Given the description of an element on the screen output the (x, y) to click on. 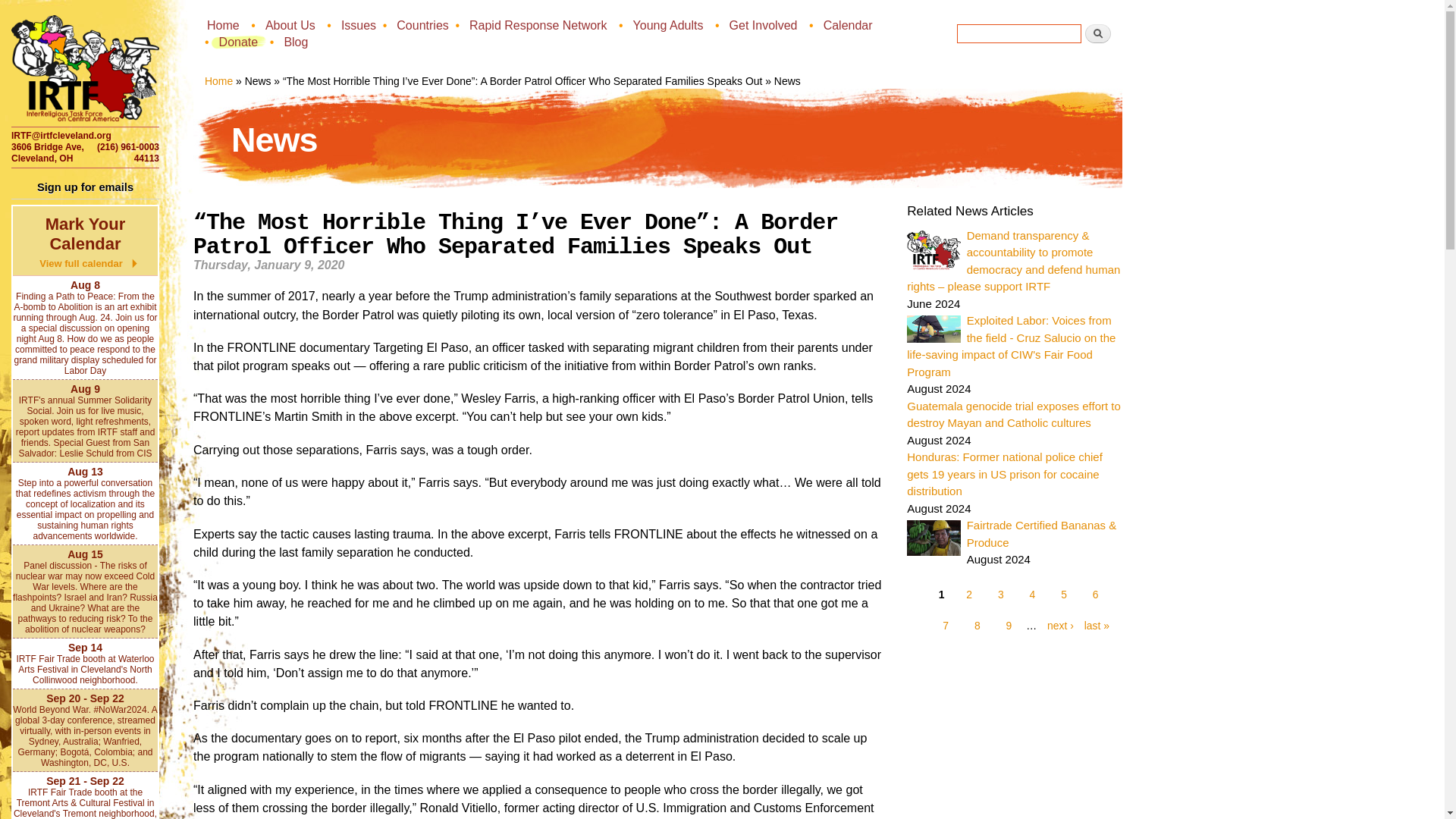
Rapid Response Network (539, 24)
Go to last page (1093, 625)
Go to page 2 (969, 594)
Donate (239, 41)
Blog (297, 41)
About Us (291, 24)
Go to page 9 (1008, 625)
Home (218, 80)
Go to page 5 (1063, 594)
Home (224, 24)
